Given the description of an element on the screen output the (x, y) to click on. 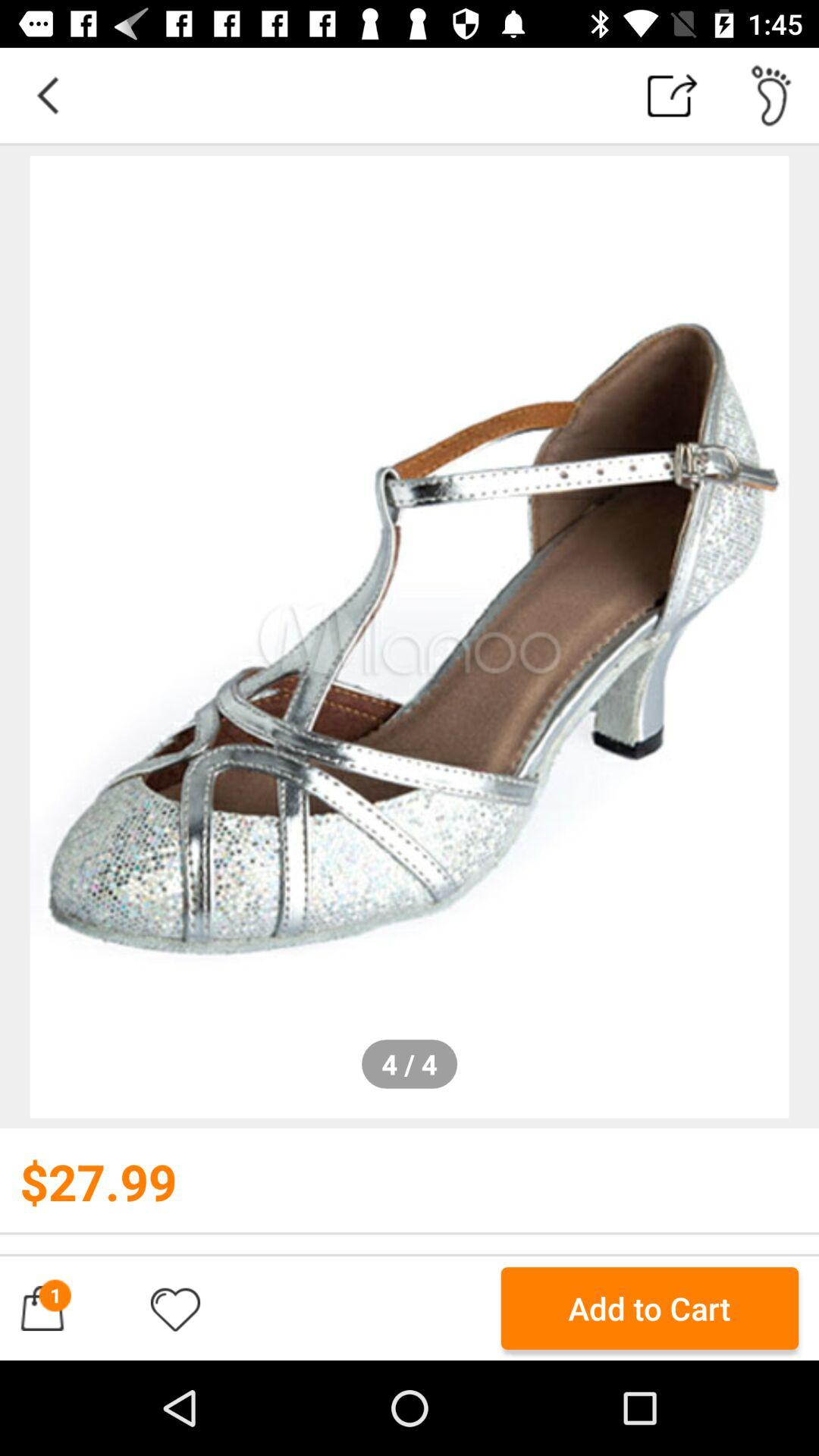
add to favorite (175, 1308)
